Given the description of an element on the screen output the (x, y) to click on. 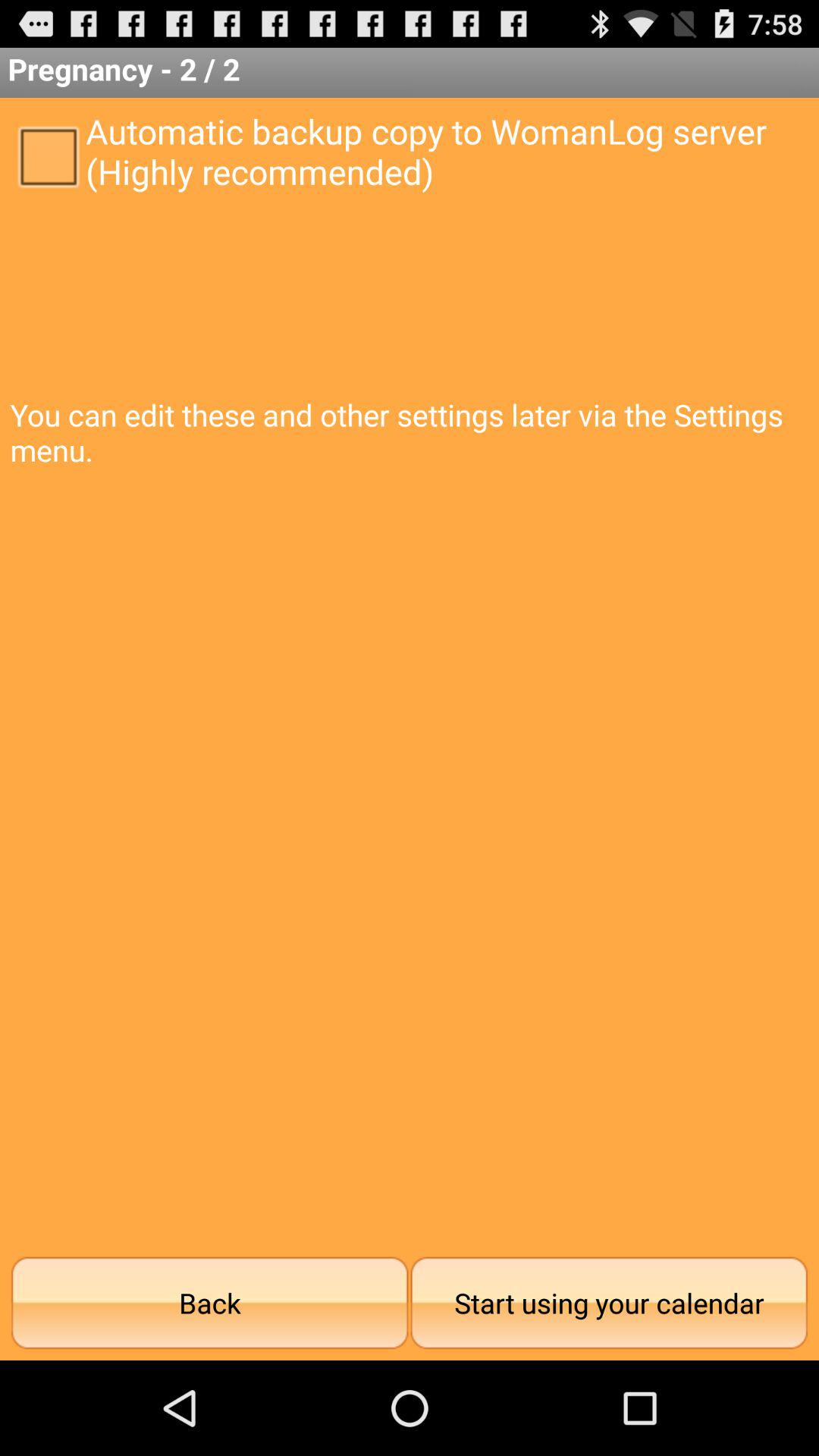
selection option (47, 155)
